Given the description of an element on the screen output the (x, y) to click on. 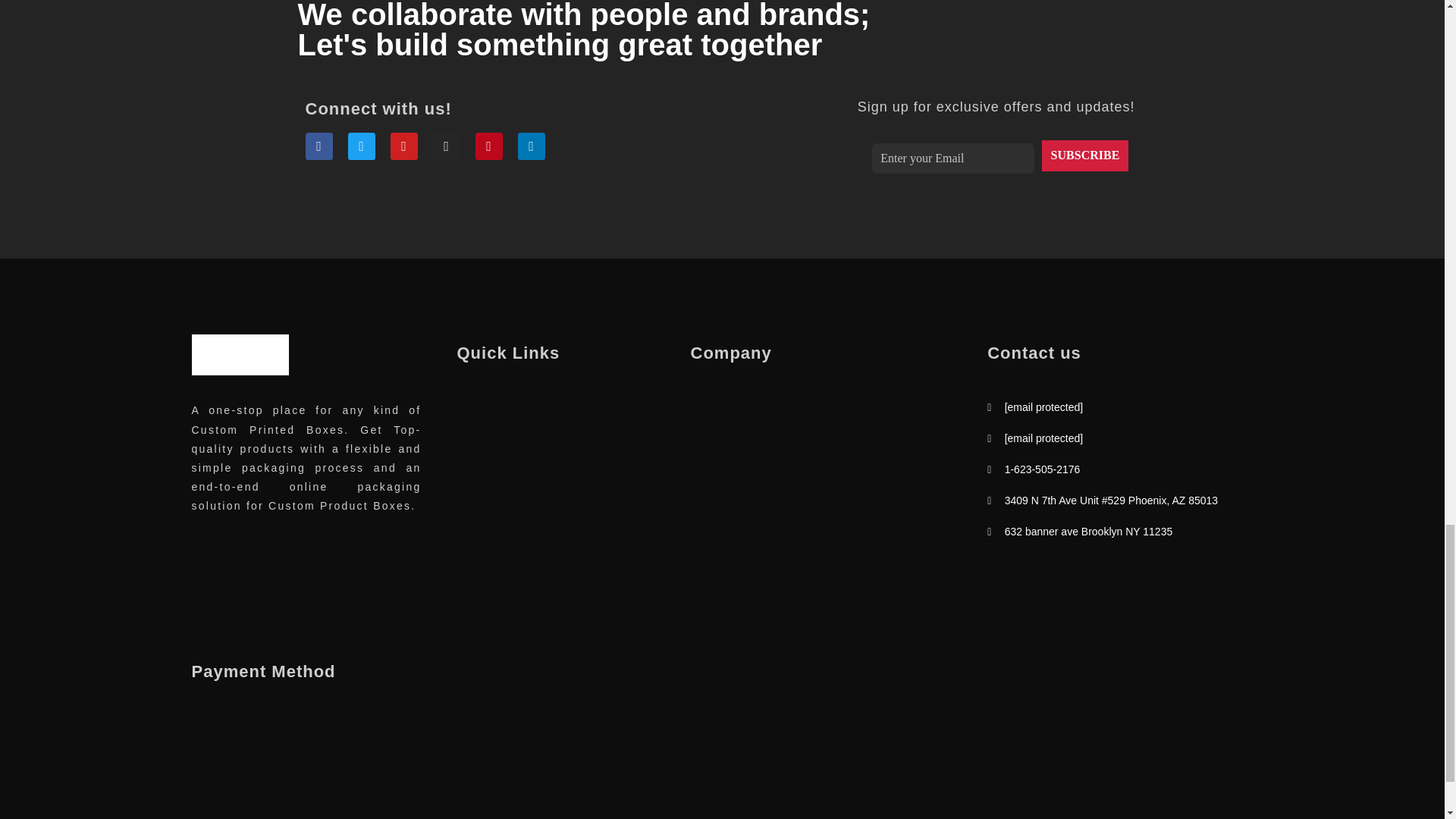
The Product Boxes (239, 354)
The Product Boxes (273, 383)
Subscribe (1084, 155)
